Given the description of an element on the screen output the (x, y) to click on. 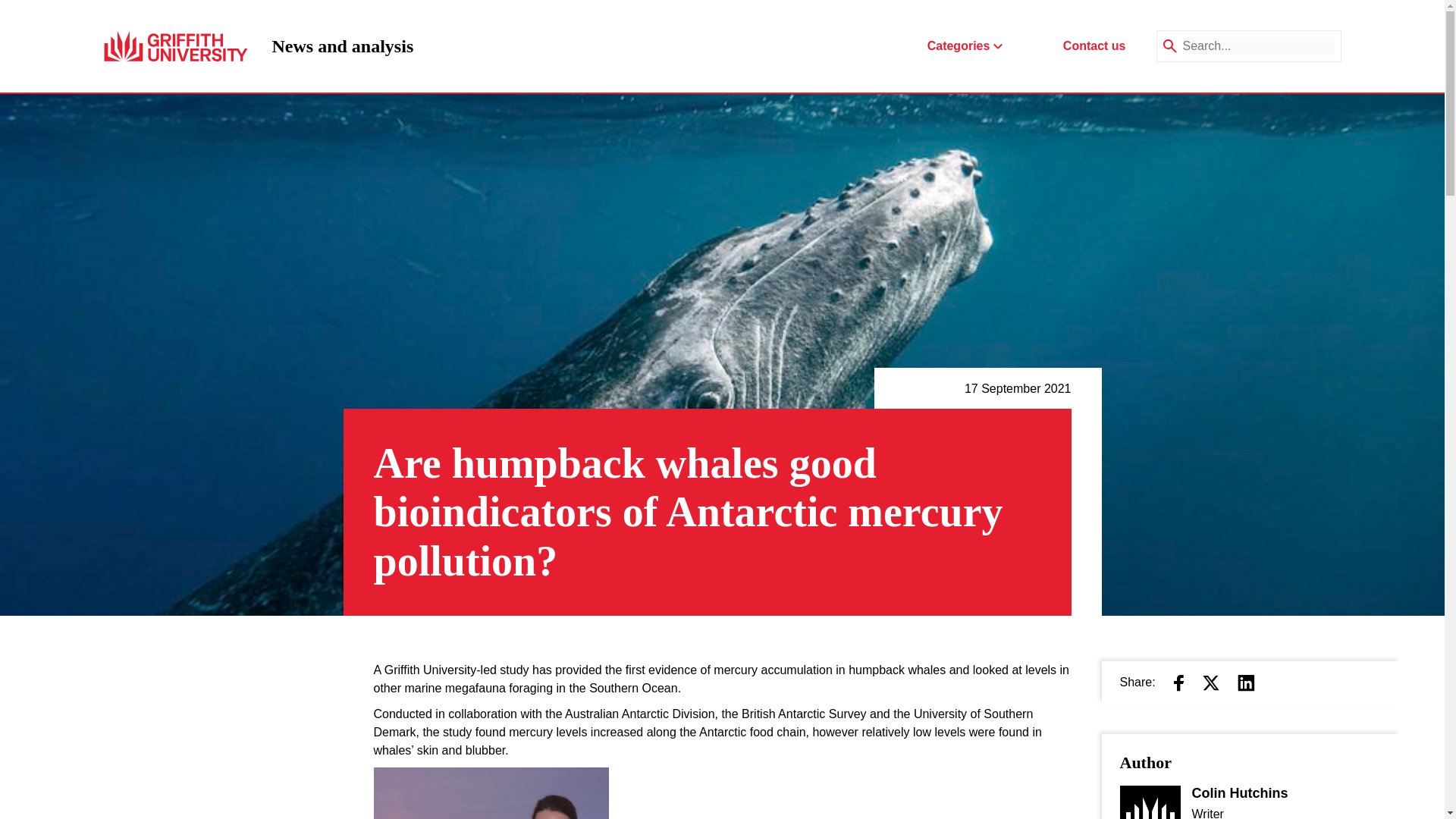
Contact us (1093, 45)
